Given the description of an element on the screen output the (x, y) to click on. 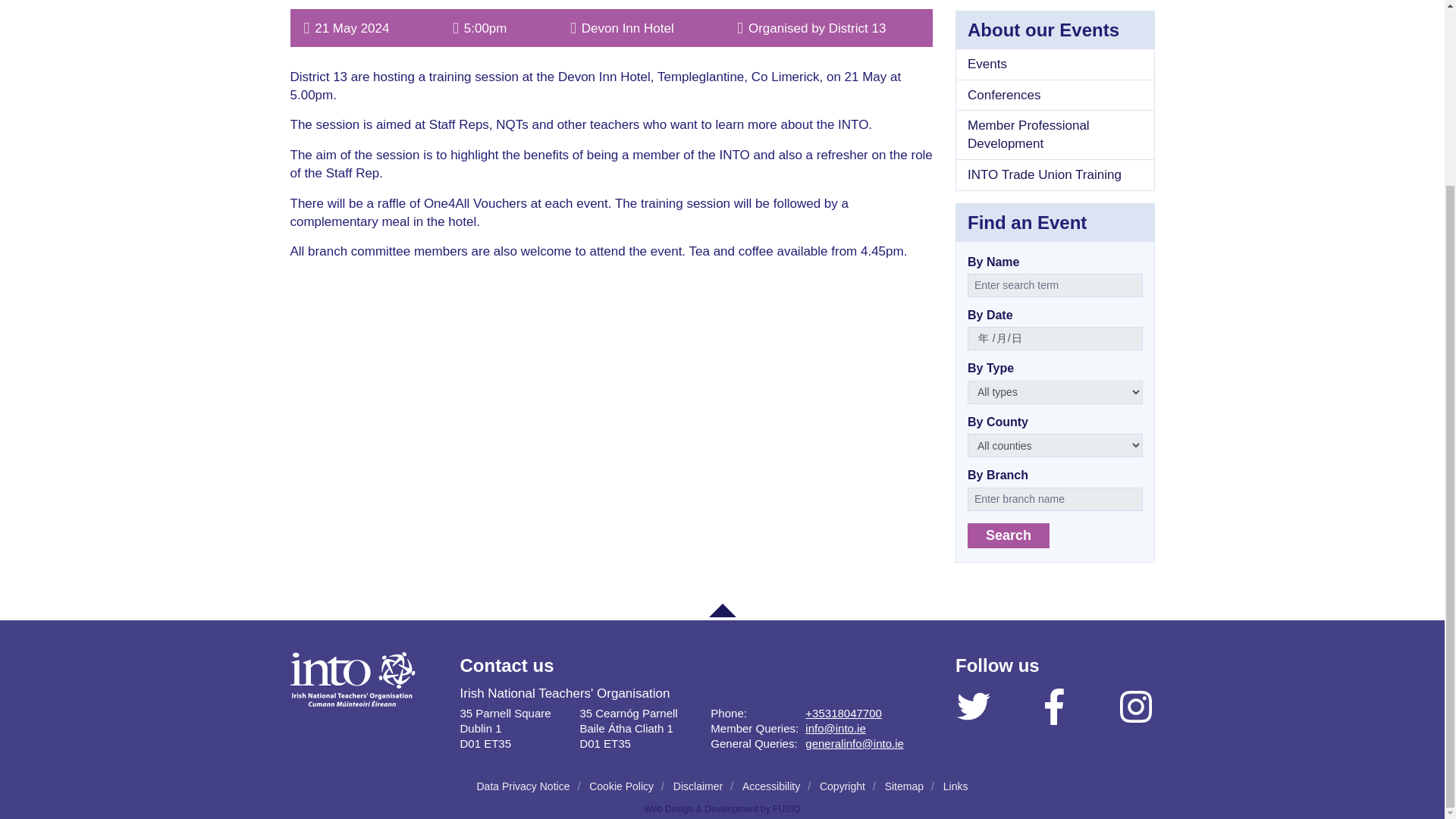
Back to top (721, 610)
Conferences (1055, 95)
About our Events (1054, 29)
Events (1055, 64)
